Given the description of an element on the screen output the (x, y) to click on. 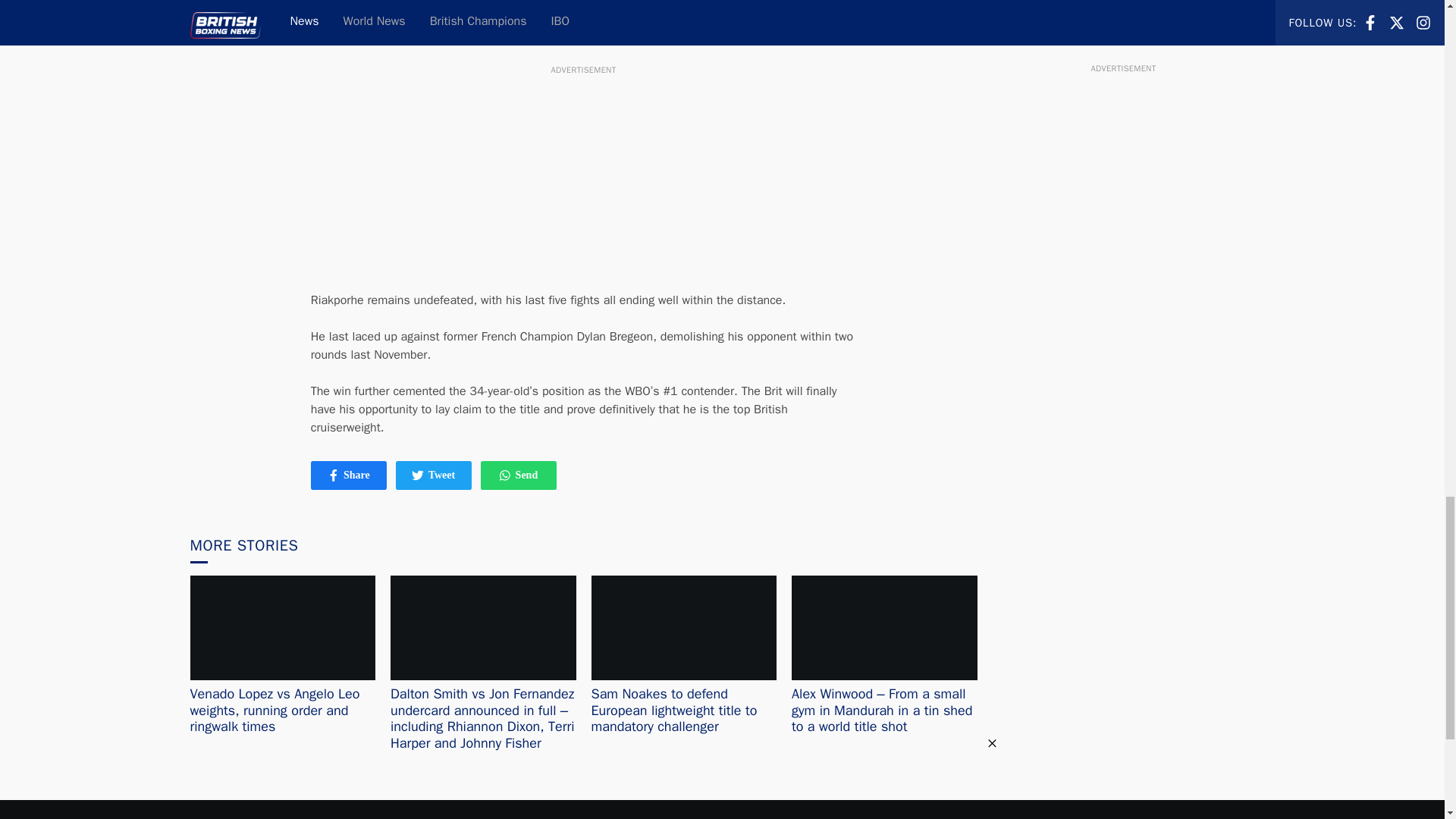
WhatsApp (518, 475)
Facebook (505, 475)
Twitter (349, 475)
terms had been agreed with the WBO surrounding the rematch (333, 475)
